Given the description of an element on the screen output the (x, y) to click on. 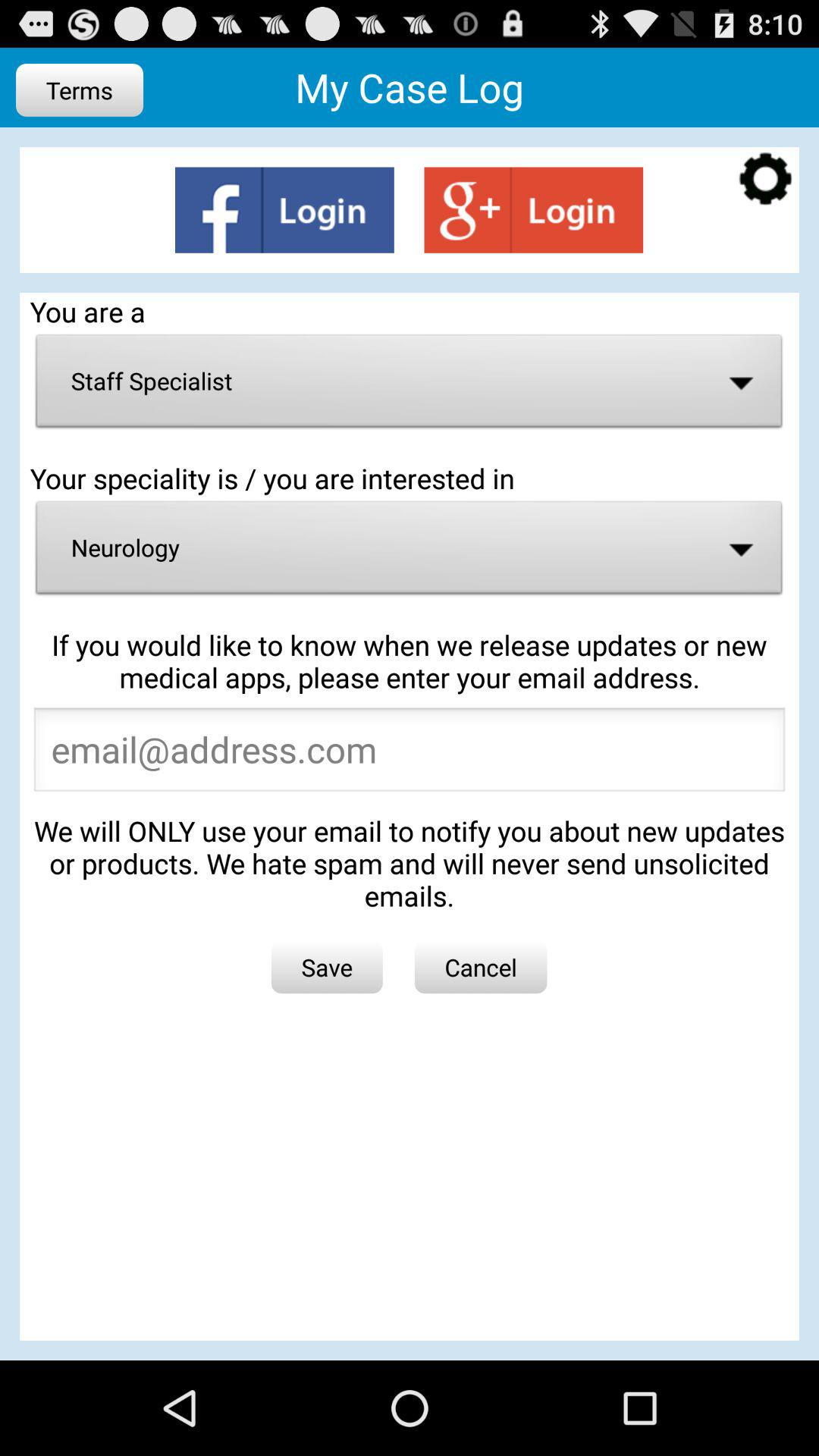
email pages (409, 753)
